Given the description of an element on the screen output the (x, y) to click on. 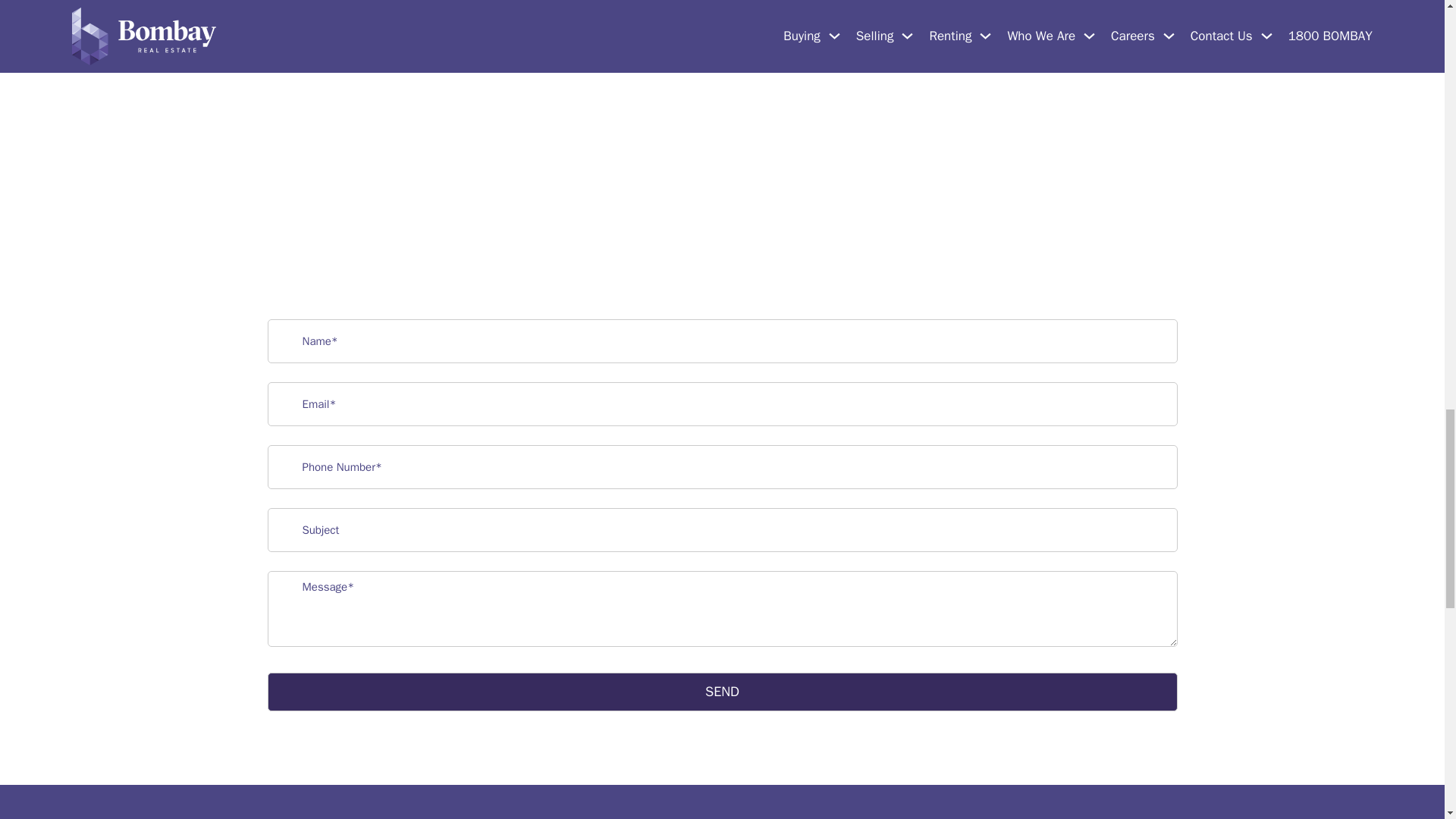
SEND (721, 691)
